Given the description of an element on the screen output the (x, y) to click on. 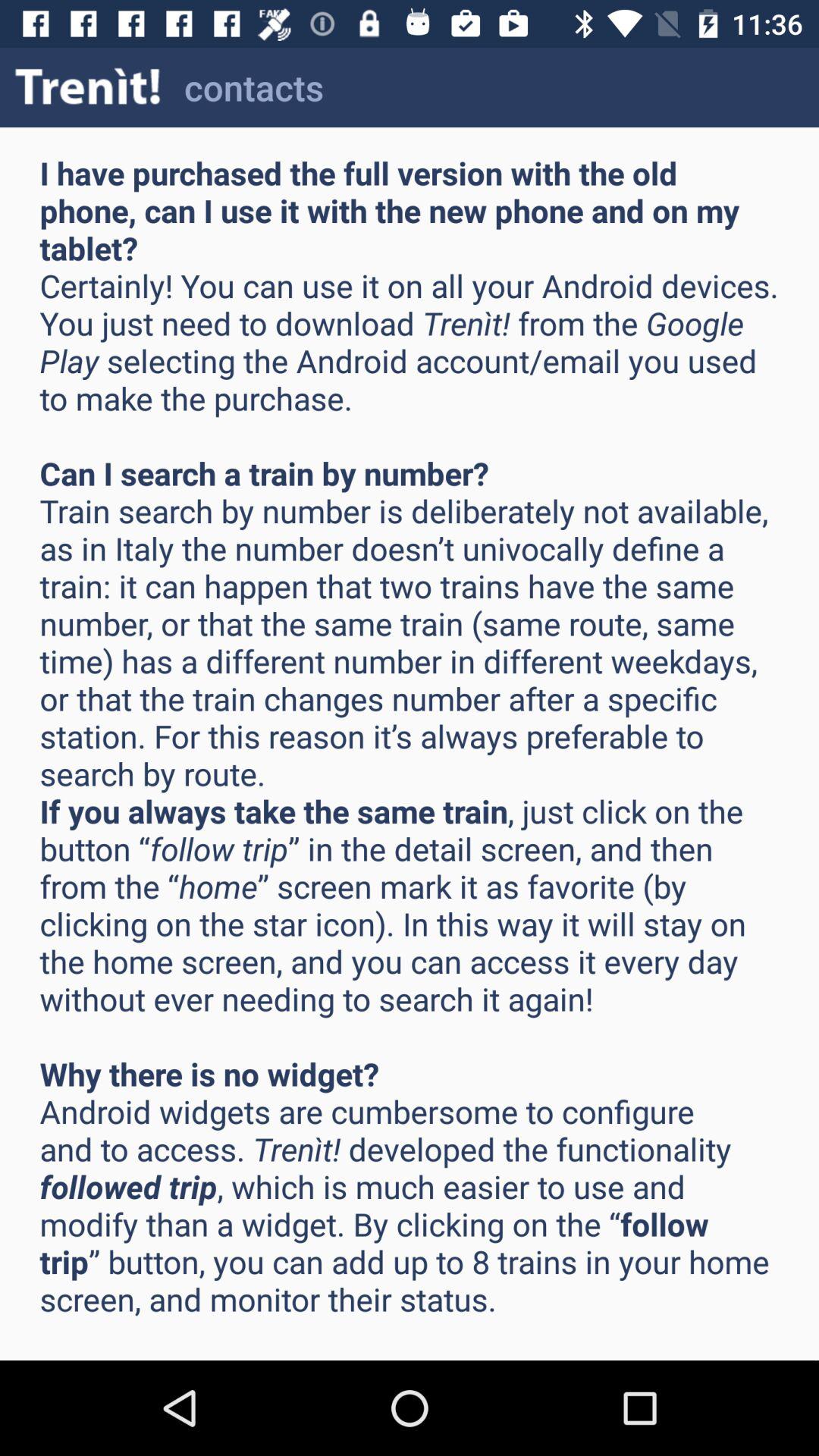
open item to the left of contacts (88, 87)
